Given the description of an element on the screen output the (x, y) to click on. 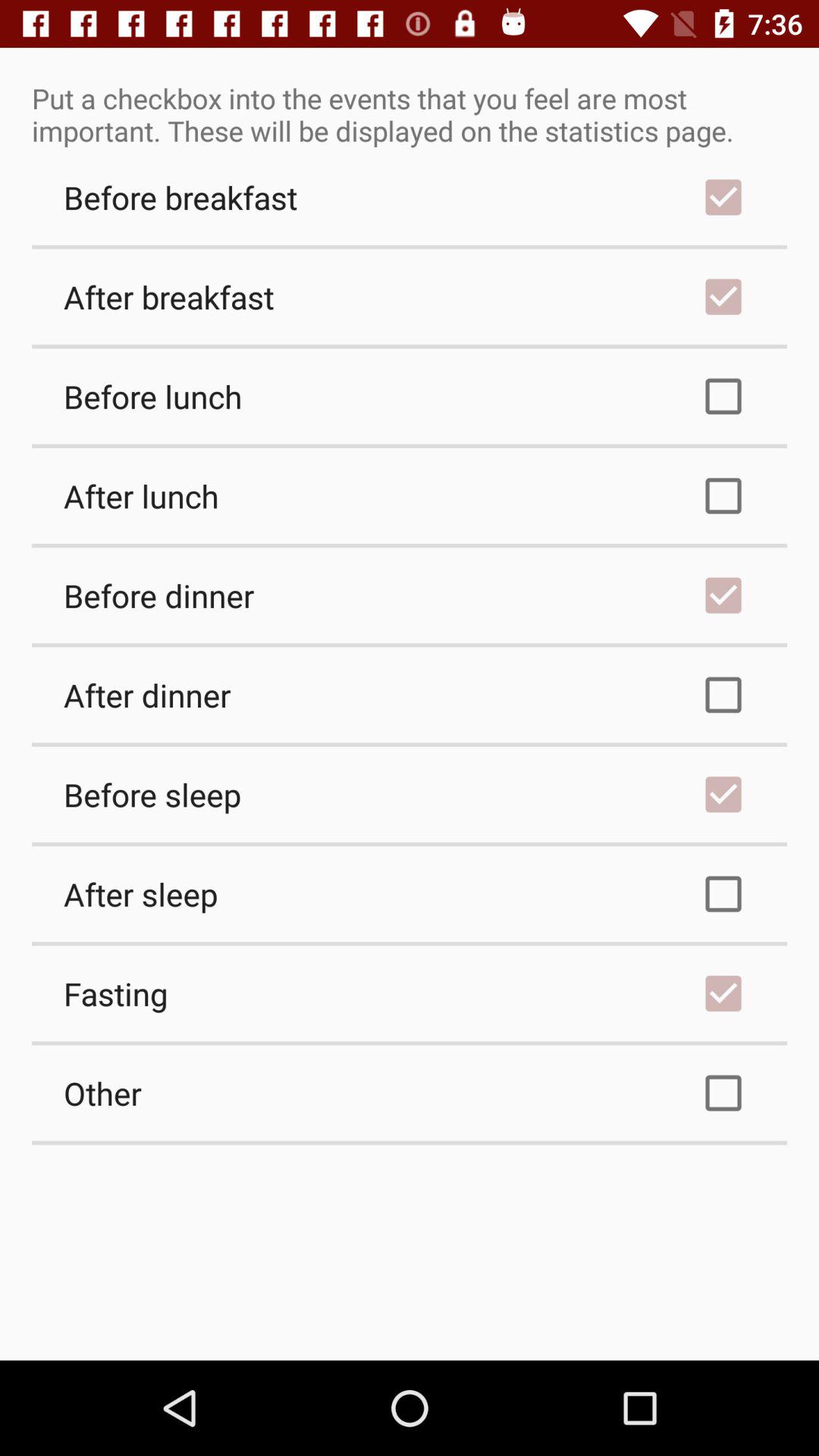
choose the before breakfast checkbox (409, 197)
